Given the description of an element on the screen output the (x, y) to click on. 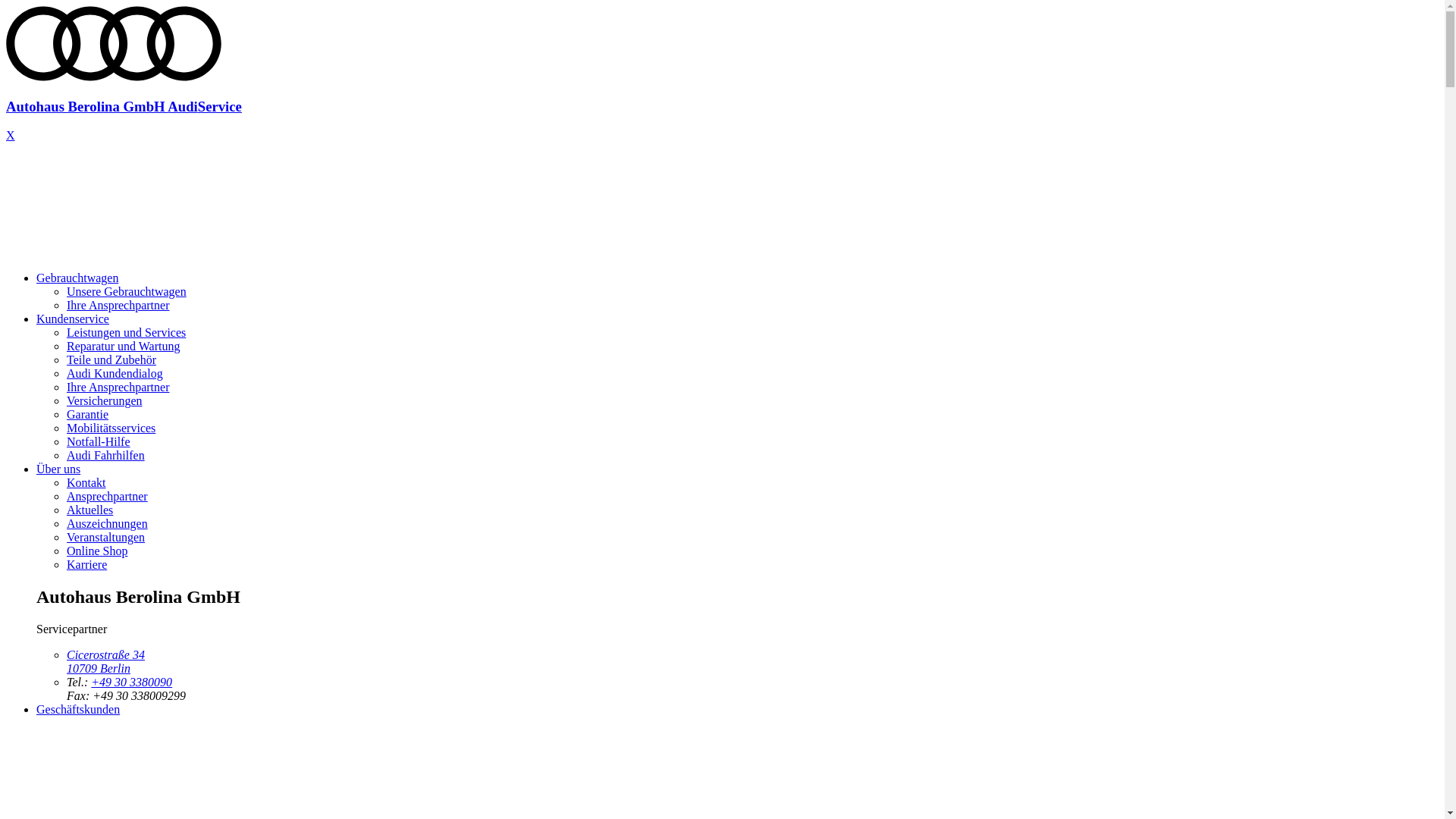
Notfall-Hilfe Element type: text (98, 441)
Versicherungen Element type: text (104, 400)
Aktuelles Element type: text (89, 509)
Ansprechpartner Element type: text (106, 495)
Kontakt Element type: text (86, 482)
Garantie Element type: text (87, 413)
Leistungen und Services Element type: text (125, 332)
Kundenservice Element type: text (72, 318)
Online Shop Element type: text (96, 550)
X Element type: text (10, 134)
Auszeichnungen Element type: text (106, 523)
Audi Fahrhilfen Element type: text (105, 454)
Autohaus Berolina GmbH AudiService Element type: text (722, 92)
+49 30 3380090 Element type: text (131, 681)
Gebrauchtwagen Element type: text (77, 277)
Karriere Element type: text (86, 564)
Veranstaltungen Element type: text (105, 536)
Audi Kundendialog Element type: text (114, 373)
Unsere Gebrauchtwagen Element type: text (126, 291)
Reparatur und Wartung Element type: text (122, 345)
Ihre Ansprechpartner Element type: text (117, 304)
Ihre Ansprechpartner Element type: text (117, 386)
